Given the description of an element on the screen output the (x, y) to click on. 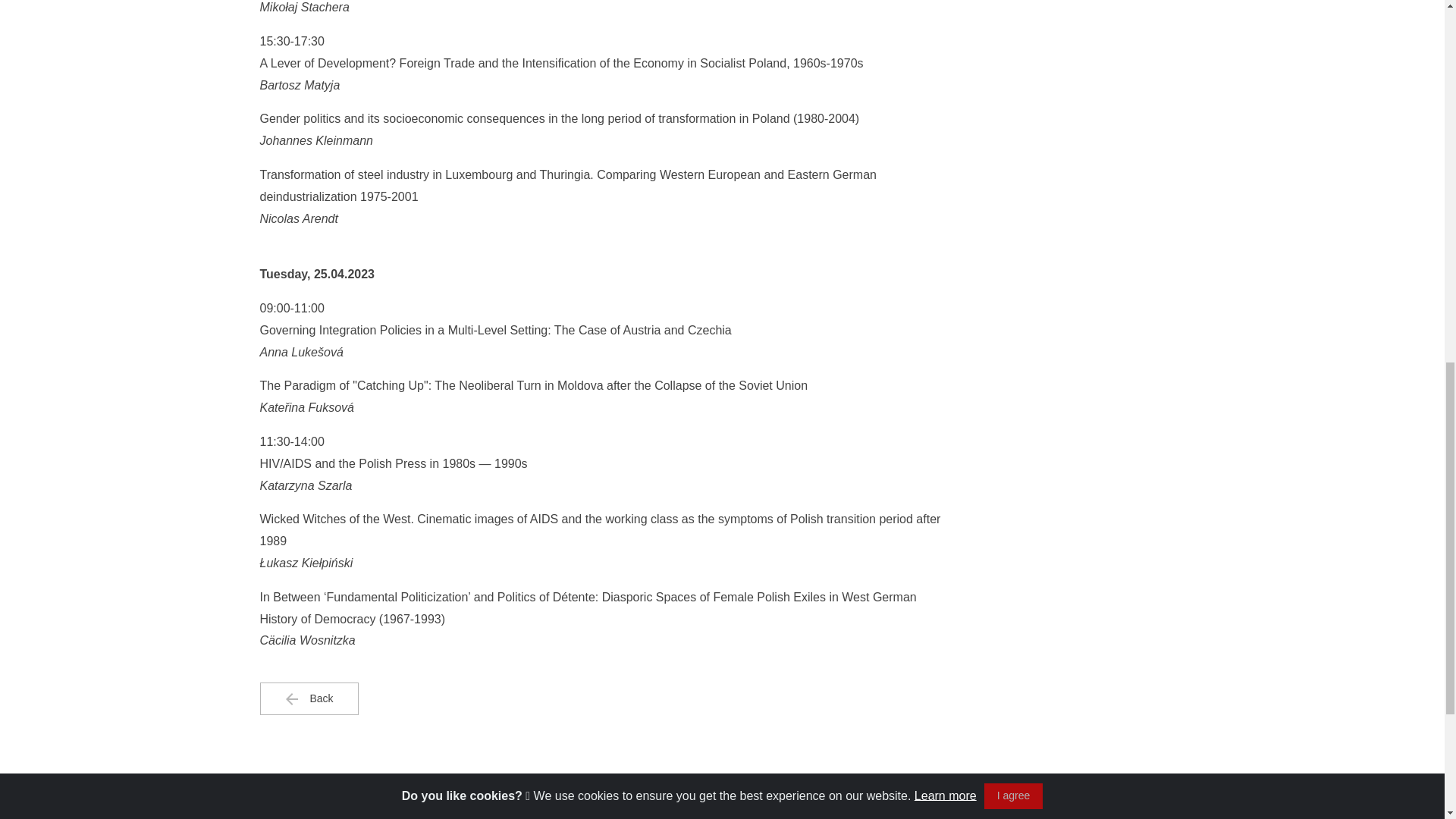
Back (308, 698)
